Given the description of an element on the screen output the (x, y) to click on. 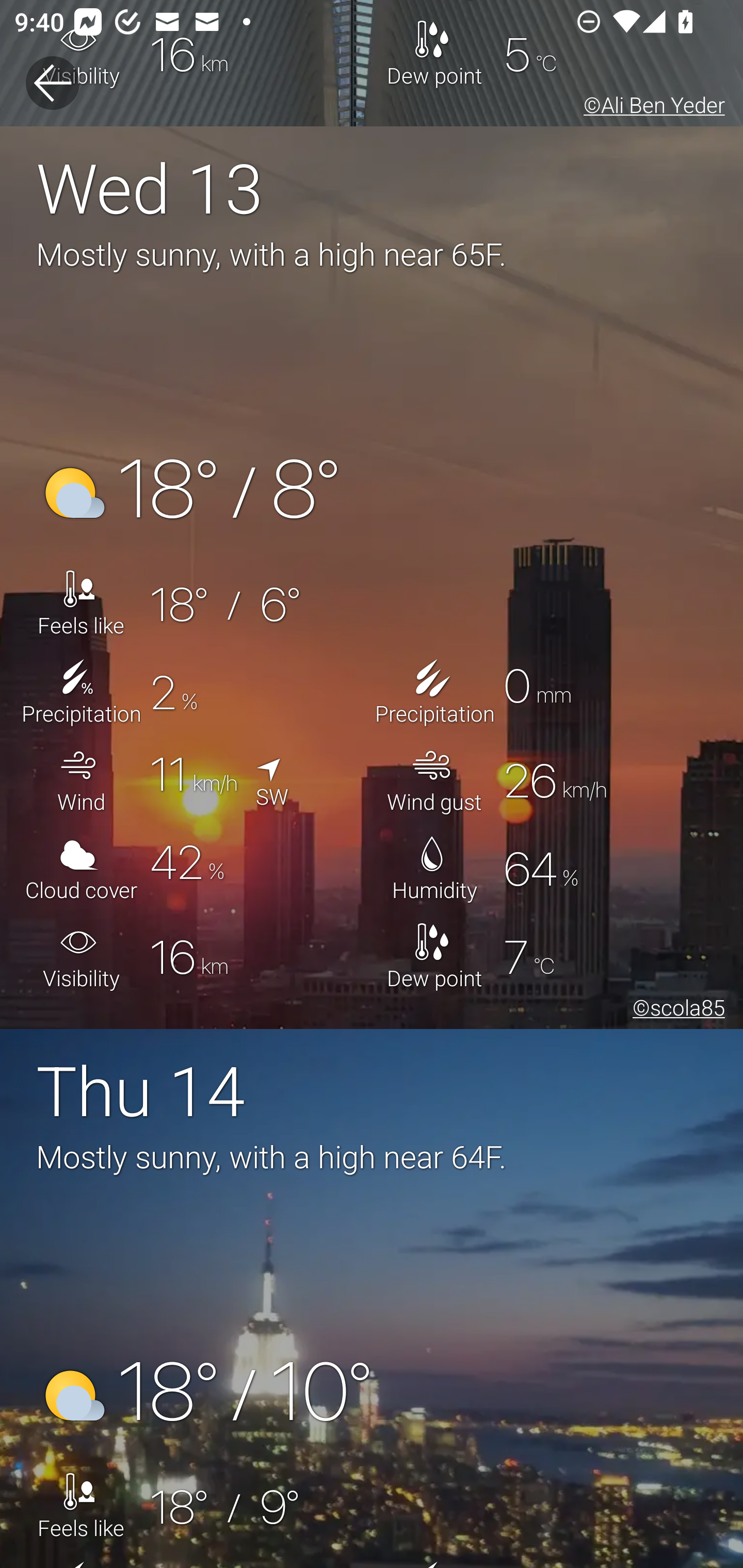
©Ali Ben Yeder (650, 108)
©scola85 (675, 1010)
